Given the description of an element on the screen output the (x, y) to click on. 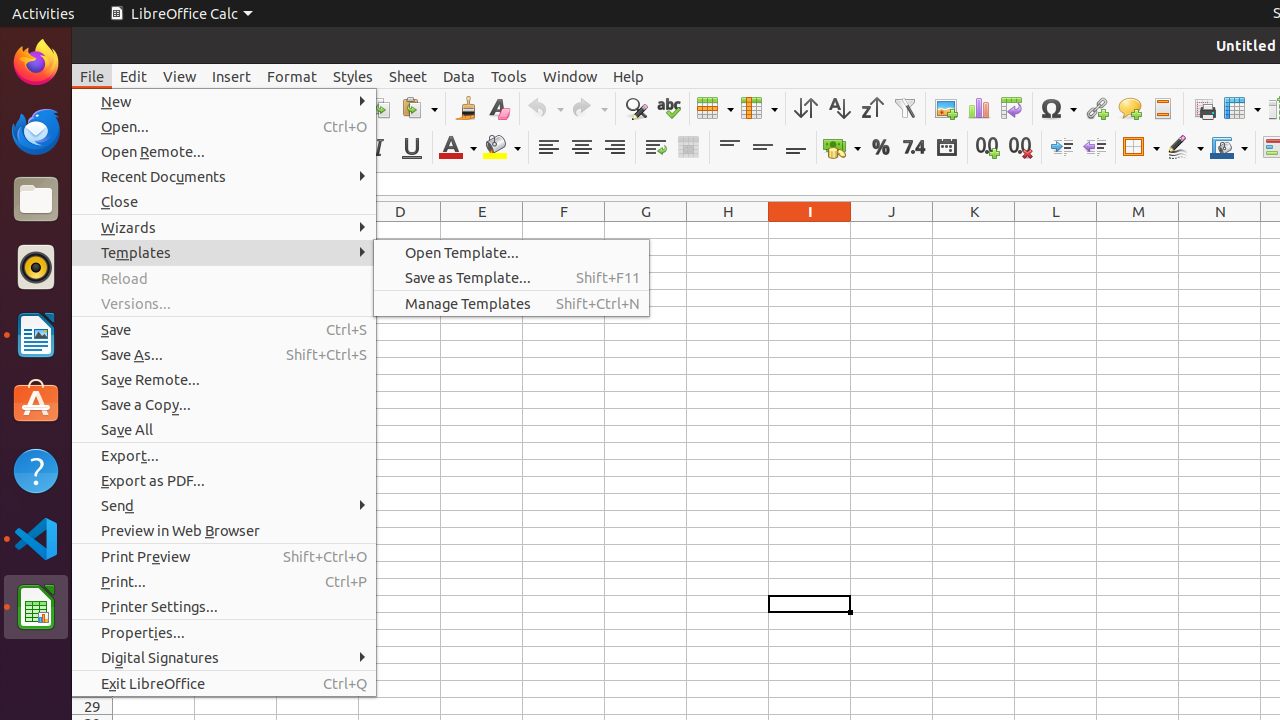
Clone Element type: push-button (465, 108)
Save Element type: menu-item (224, 329)
Export as PDF... Element type: menu-item (224, 480)
Add Decimal Place Element type: push-button (987, 147)
Align Bottom Element type: push-button (795, 147)
